Given the description of an element on the screen output the (x, y) to click on. 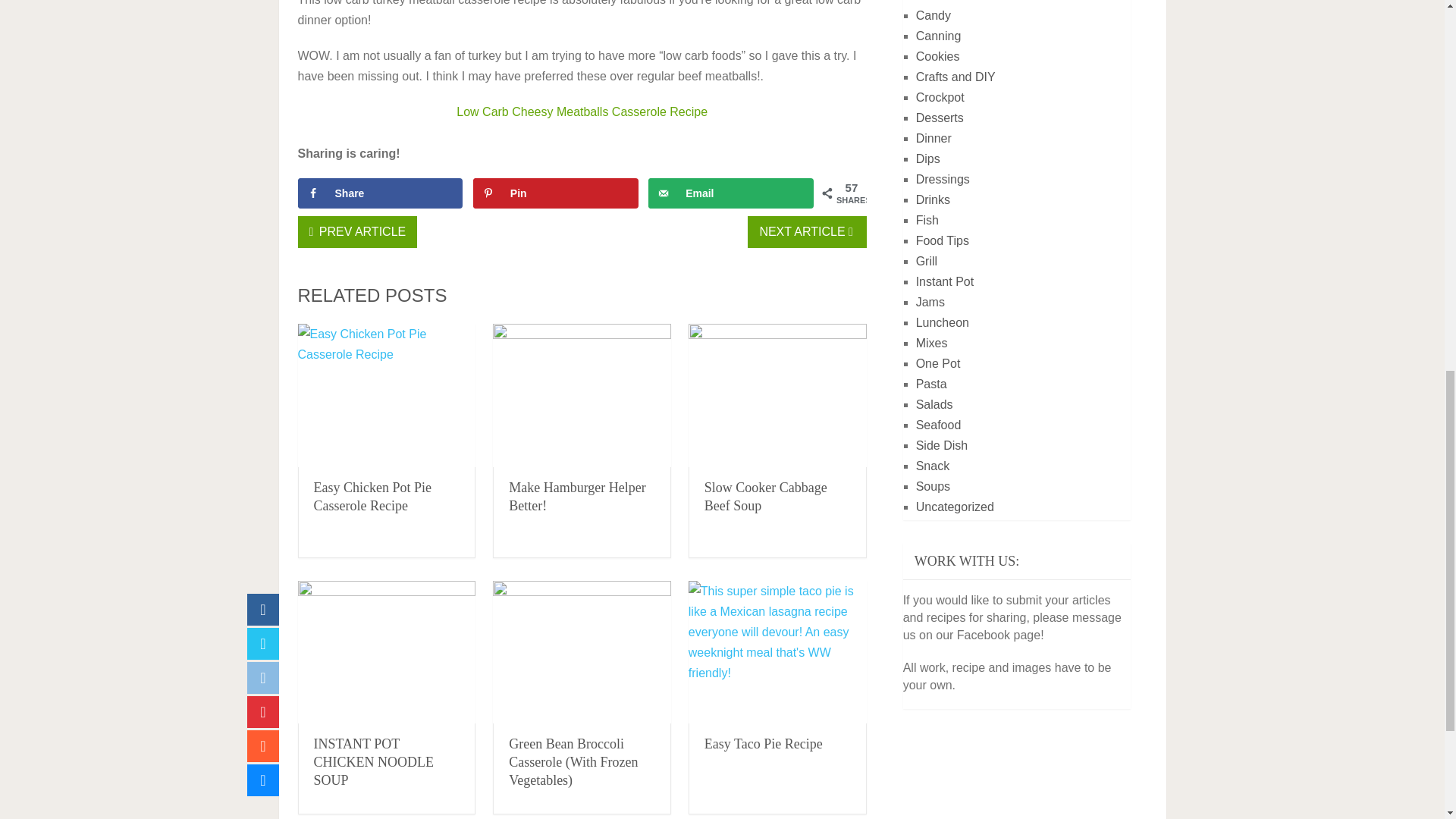
Make Hamburger Helper Better! (577, 496)
Make Hamburger Helper Better! (582, 394)
INSTANT POT CHICKEN NOODLE SOUP (386, 651)
NEXT ARTICLE (807, 232)
Email (730, 193)
Slow Cooker Cabbage Beef Soup (765, 496)
PREV ARTICLE (356, 232)
Share on Facebook (380, 193)
Pin (556, 193)
Slow Cooker Cabbage Beef Soup (777, 394)
Save to Pinterest (556, 193)
Easy Chicken Pot Pie Casserole Recipe (373, 496)
Slow Cooker Cabbage Beef Soup (765, 496)
Share (380, 193)
Send over email (730, 193)
